Given the description of an element on the screen output the (x, y) to click on. 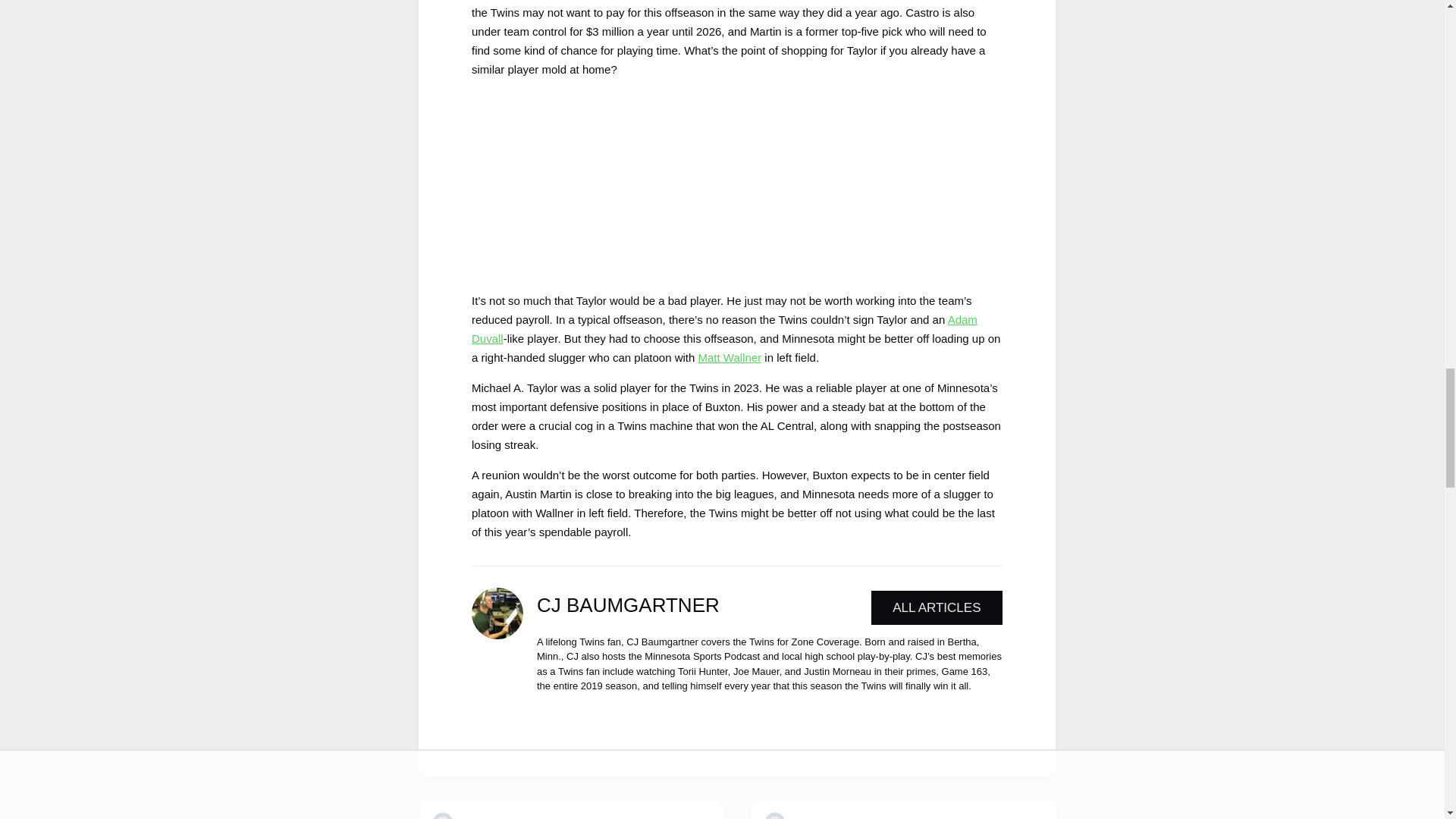
Adam Duvall (723, 328)
Matt Wallner (729, 357)
